Given the description of an element on the screen output the (x, y) to click on. 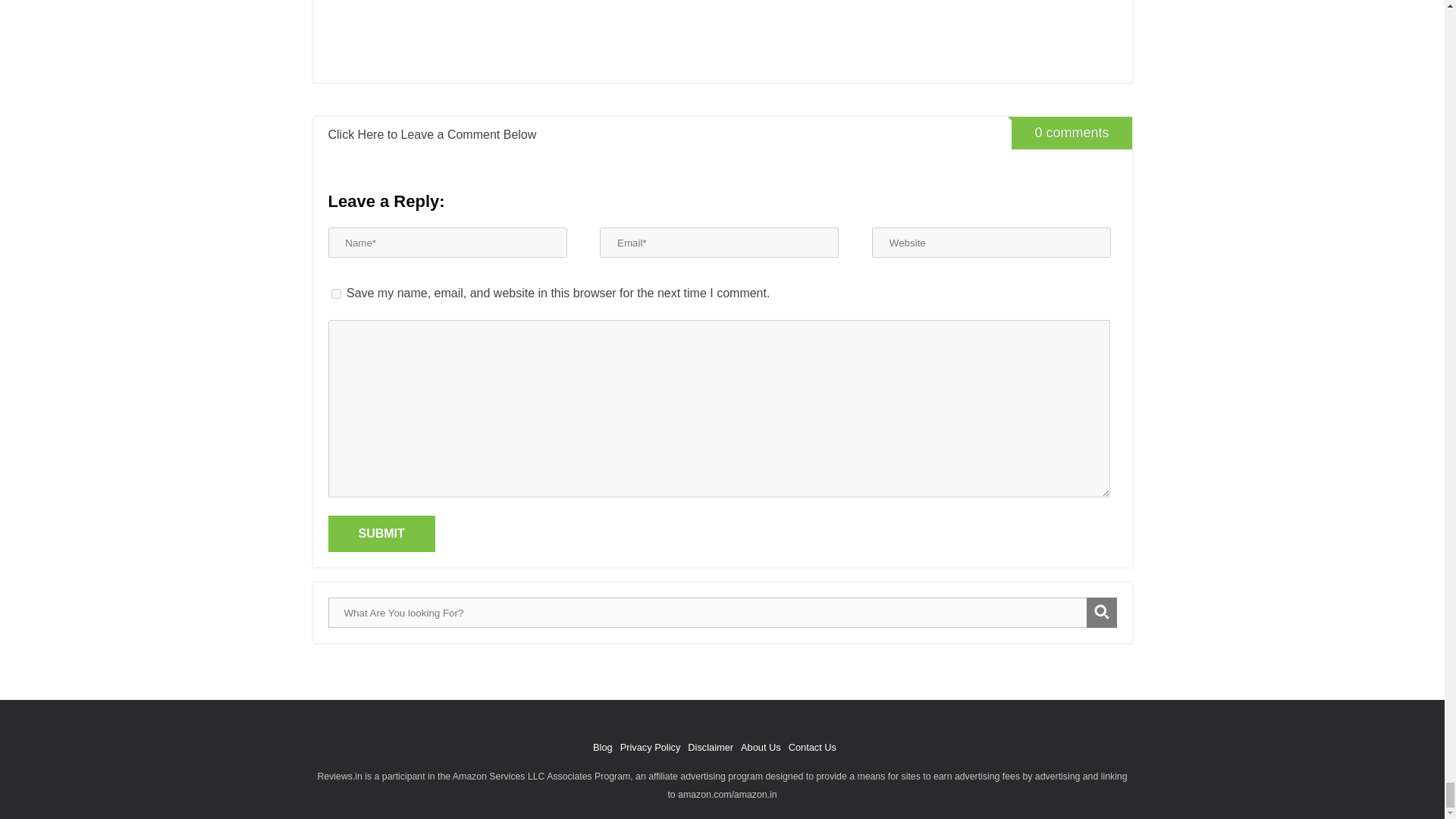
SUBMIT (380, 533)
yes (335, 293)
